Given the description of an element on the screen output the (x, y) to click on. 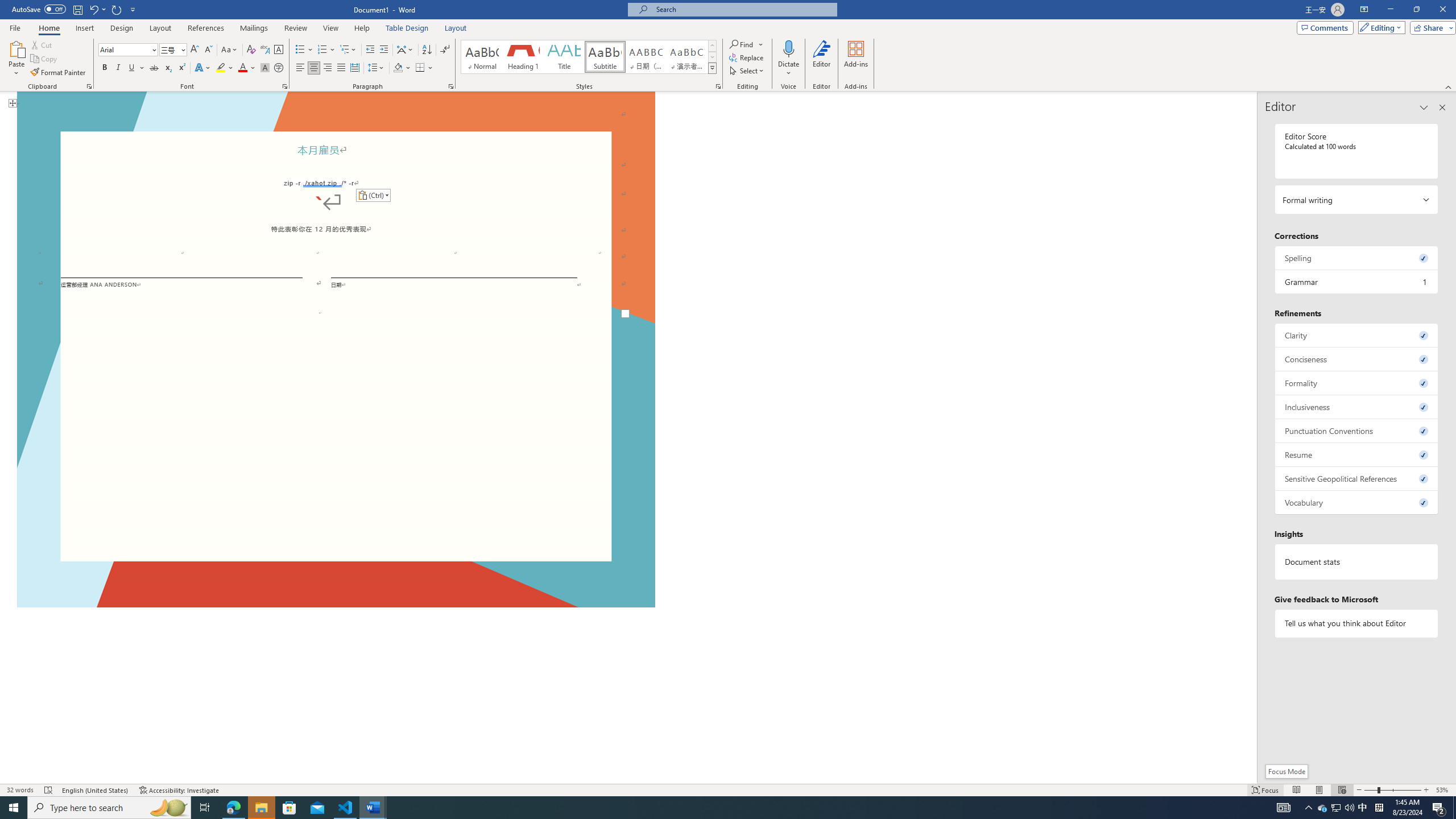
Clarity, 0 issues. Press space or enter to review items. (1356, 335)
